Given the description of an element on the screen output the (x, y) to click on. 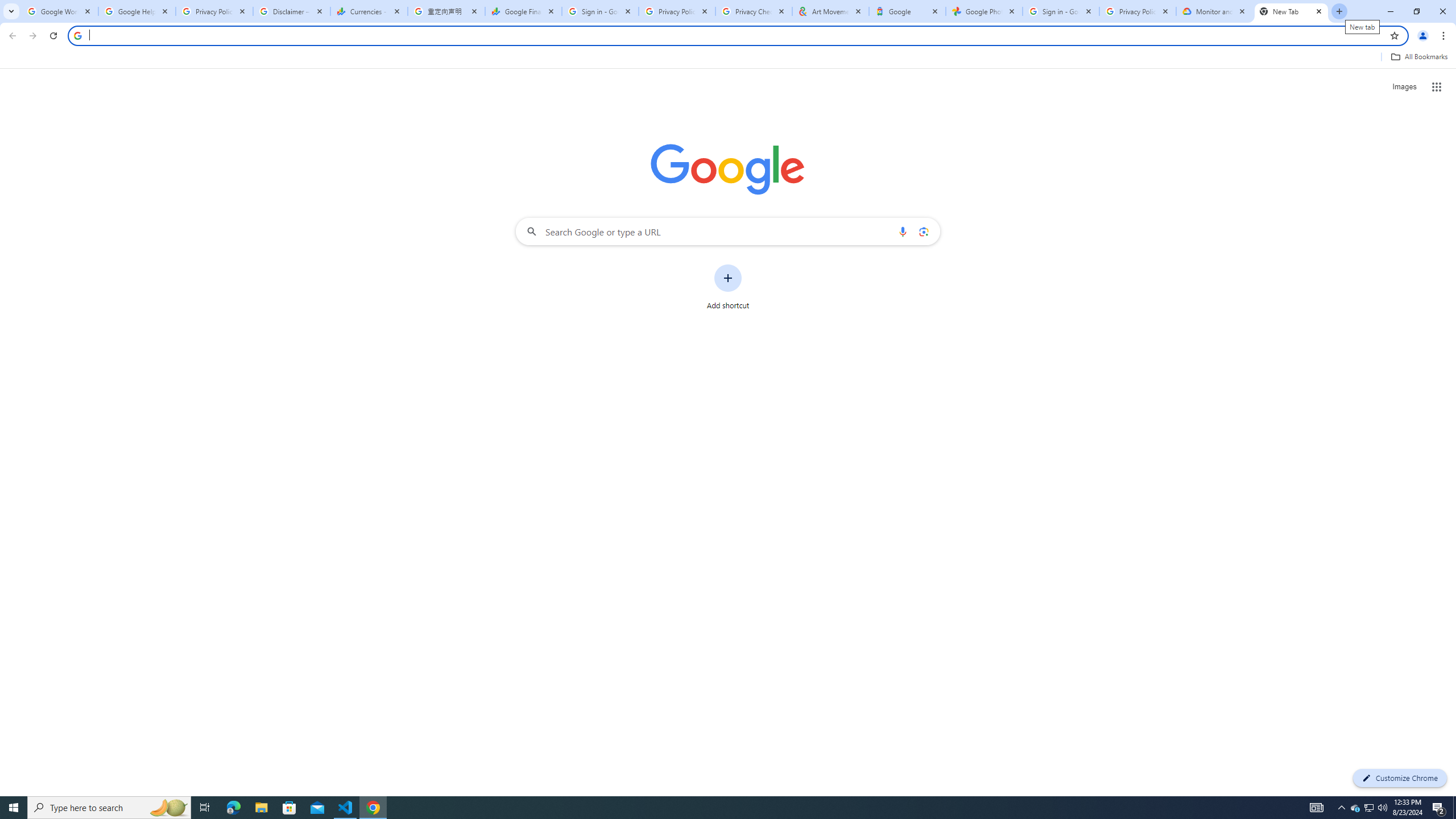
Privacy Checkup (753, 11)
Search Google or type a URL (727, 230)
